Given the description of an element on the screen output the (x, y) to click on. 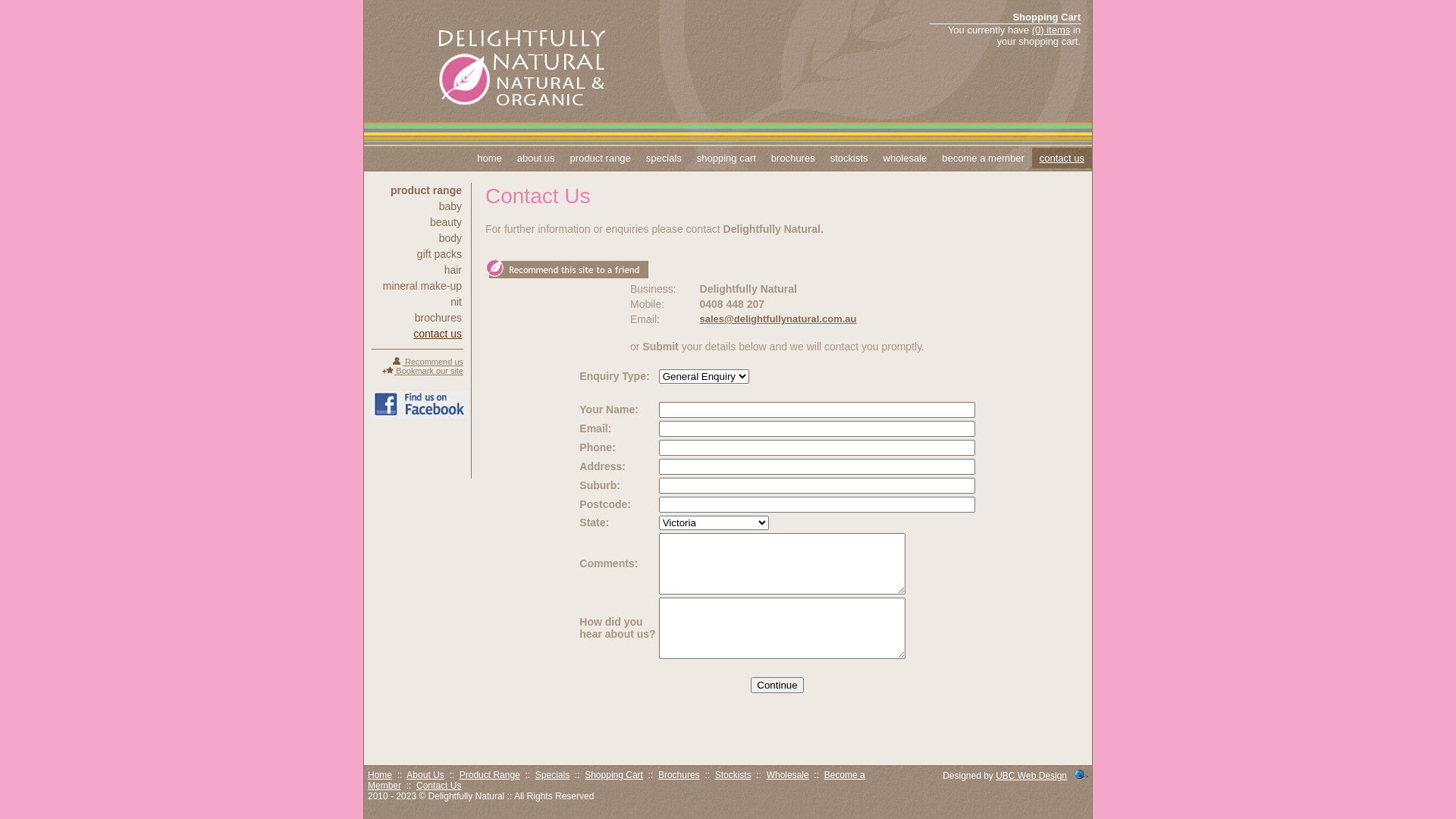
nit Element type: text (417, 301)
Wholesale Element type: text (787, 774)
Become a Member Element type: text (616, 779)
brochures Element type: text (417, 317)
mineral make-up Element type: text (417, 285)
brochures Element type: text (792, 157)
About Us Element type: text (424, 774)
stockists Element type: text (848, 157)
Recommend us Element type: text (427, 361)
Shopping Cart Element type: text (613, 774)
hair Element type: text (417, 269)
(0) items Element type: text (1051, 29)
UBC Web Design Element type: text (1030, 775)
Product Range Element type: text (489, 774)
gift packs Element type: text (417, 253)
wholesale Element type: text (905, 157)
Brochures Element type: text (678, 774)
become a member Element type: text (982, 157)
sales@delightfullynatural.com.au Element type: text (777, 318)
Home Element type: text (379, 774)
specials Element type: text (663, 157)
contact us Element type: text (417, 333)
product range Element type: text (600, 157)
Stockists Element type: text (733, 774)
beauty Element type: text (417, 221)
shopping cart Element type: text (726, 157)
Find Delightfully Natural on Facebook Element type: hover (419, 404)
Specials Element type: text (552, 774)
about us Element type: text (535, 157)
contact us Element type: text (1062, 157)
product range Element type: text (417, 189)
baby Element type: text (417, 205)
Bookmark our site Element type: text (422, 370)
home Element type: text (489, 157)
Continue Element type: text (776, 684)
body Element type: text (417, 237)
Contact Us Element type: text (438, 785)
